Given the description of an element on the screen output the (x, y) to click on. 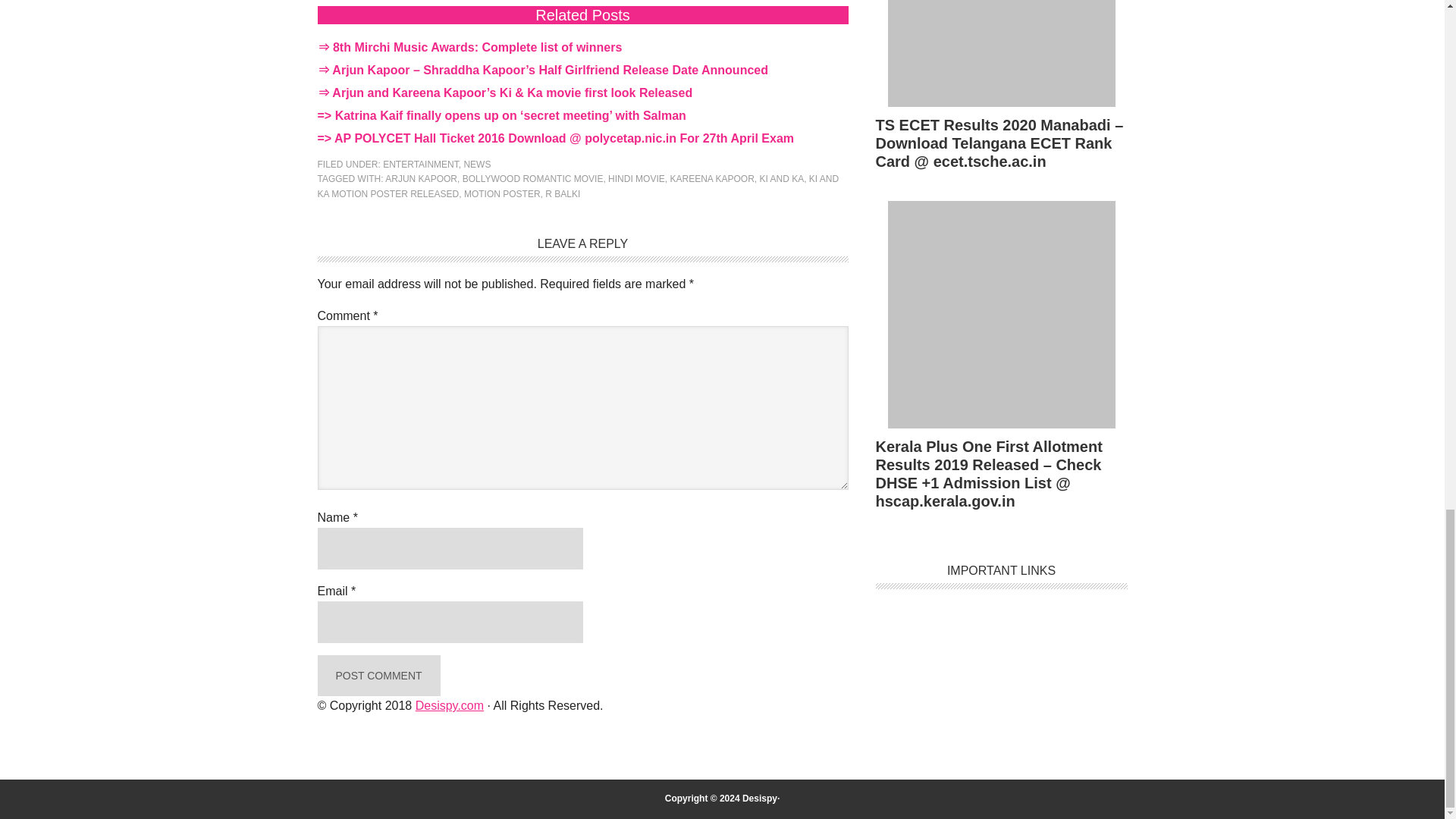
NEWS (476, 163)
ARJUN KAPOOR (421, 178)
8th Mirchi Music Awards: Complete list of winners (477, 47)
HINDI MOVIE (636, 178)
KI AND KA (782, 178)
Post Comment (378, 675)
ENTERTAINMENT (420, 163)
MOTION POSTER (502, 194)
R BALKI (561, 194)
KI AND KA MOTION POSTER RELEASED (577, 186)
